Given the description of an element on the screen output the (x, y) to click on. 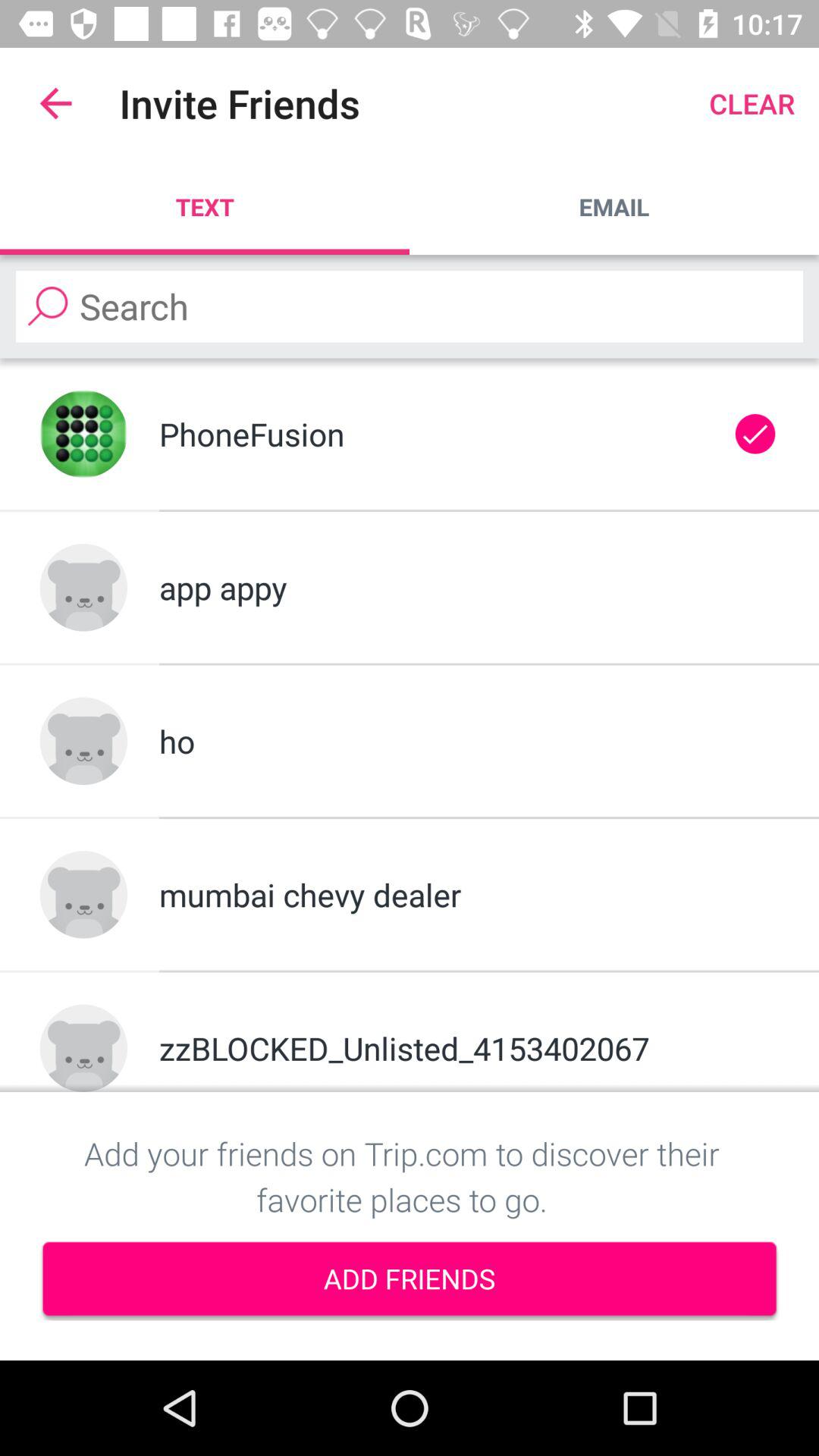
launch the item above the text (55, 103)
